Given the description of an element on the screen output the (x, y) to click on. 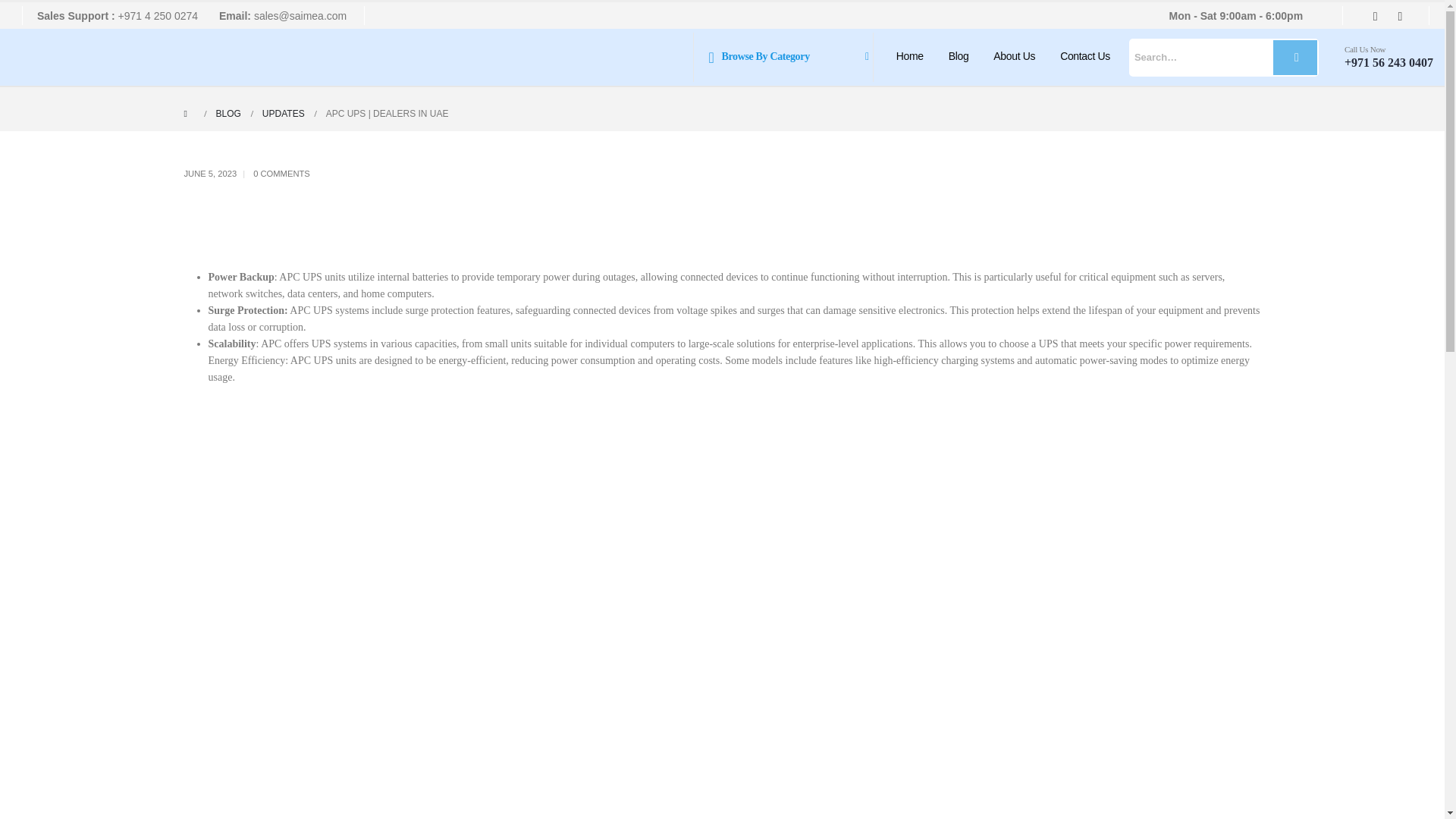
Search (1294, 56)
0 COMMENTS (281, 173)
saimea.com - Buy IT Products Online With Best Price (66, 56)
Facebook (1374, 15)
Instagram (1399, 15)
